Given the description of an element on the screen output the (x, y) to click on. 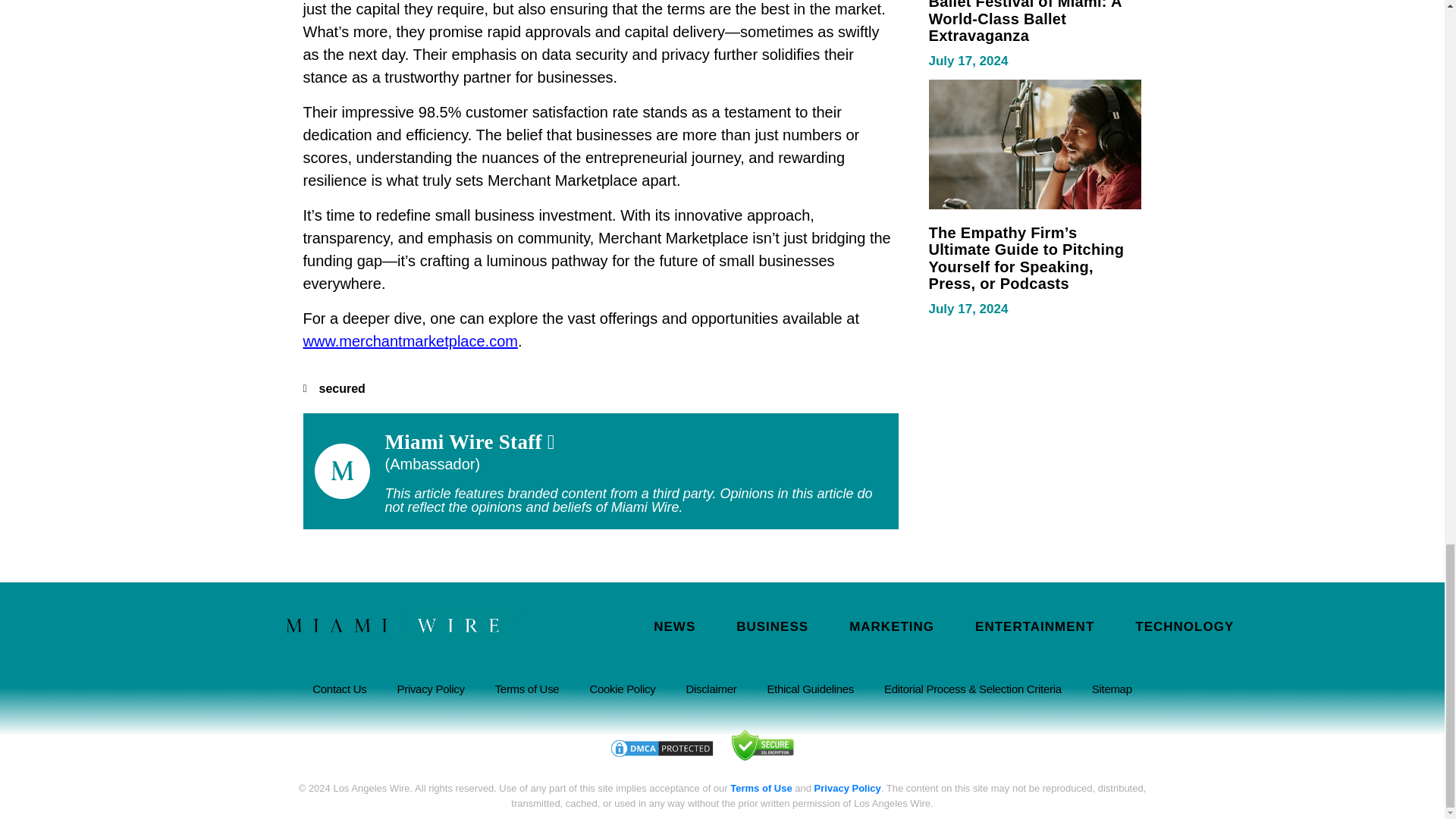
Miami Wire Staff (470, 441)
secured (341, 388)
www.merchantmarketplace.com (410, 340)
DMCA.com Protection Status (661, 747)
